Given the description of an element on the screen output the (x, y) to click on. 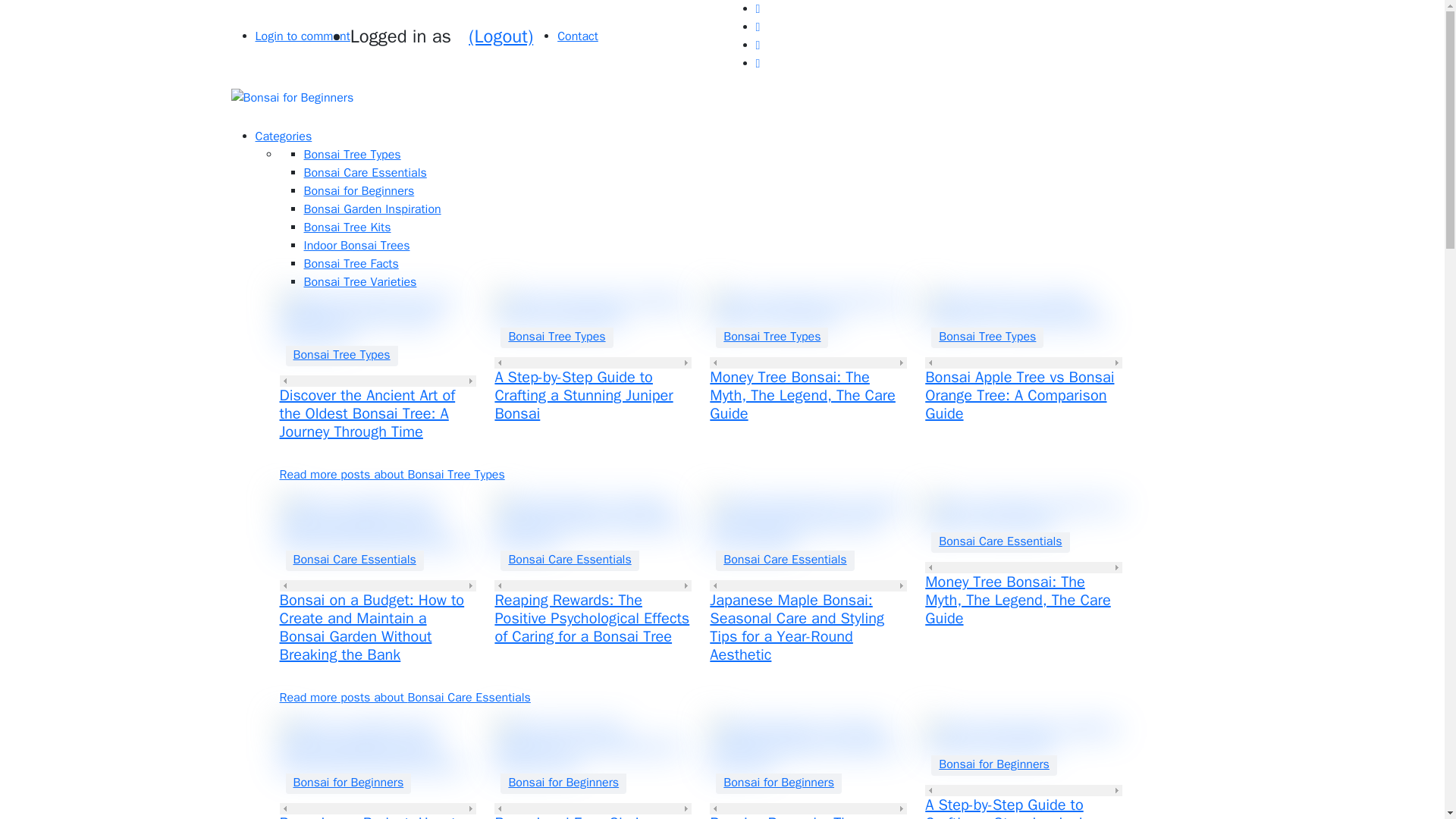
Bonsai Tree Kits (346, 227)
Bonsai Care Essentials (364, 172)
Read more posts about Bonsai Tree Types (391, 474)
Bonsai Tree Varieties (359, 281)
Bonsai Apple Tree vs Bonsai Orange Tree: A Comparison Guide (1018, 395)
A Step-by-Step Guide to Crafting a Stunning Juniper Bonsai (583, 395)
Money Tree Bonsai: The Myth, The Legend, The Care Guide (802, 395)
Categories (282, 136)
Bonsai Tree Types (341, 354)
